Given the description of an element on the screen output the (x, y) to click on. 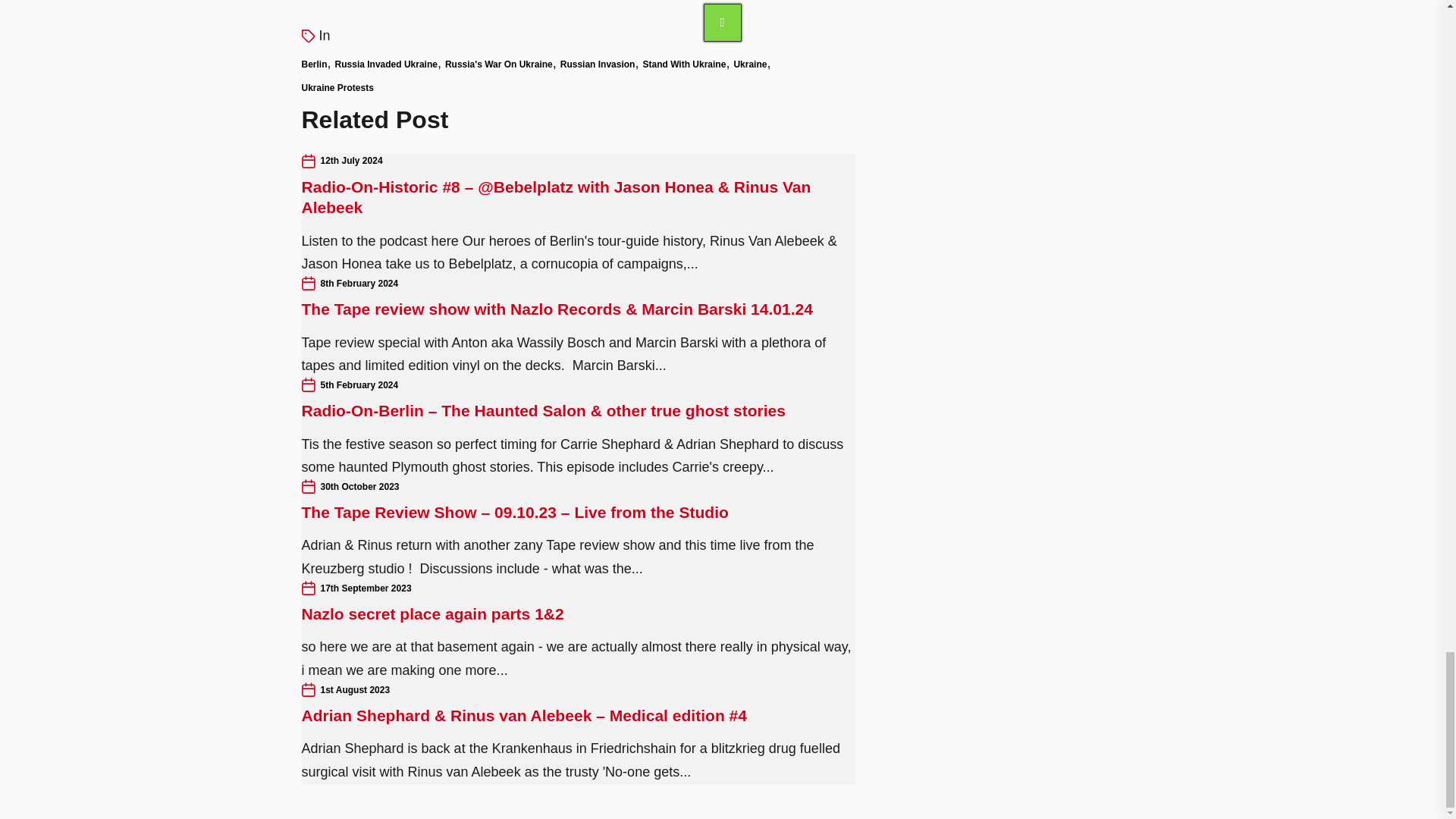
Ukraine (750, 63)
Ukraine Protests (337, 86)
Berlin (314, 63)
Stand With Ukraine (683, 63)
12th July 2024 (350, 160)
Russia Invaded Ukraine (386, 63)
Russia'S War On Ukraine (499, 63)
Russian Invasion (597, 63)
